Given the description of an element on the screen output the (x, y) to click on. 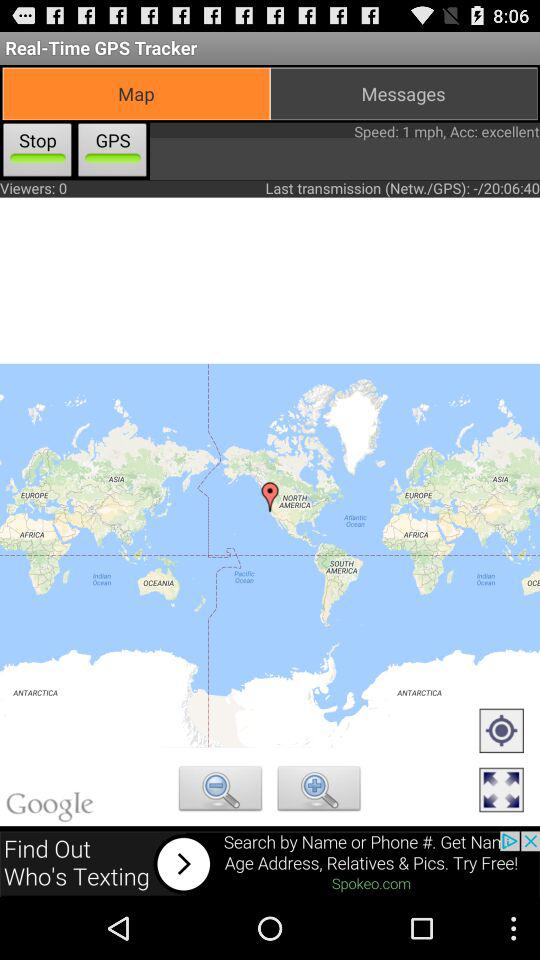
search about add (270, 864)
